Given the description of an element on the screen output the (x, y) to click on. 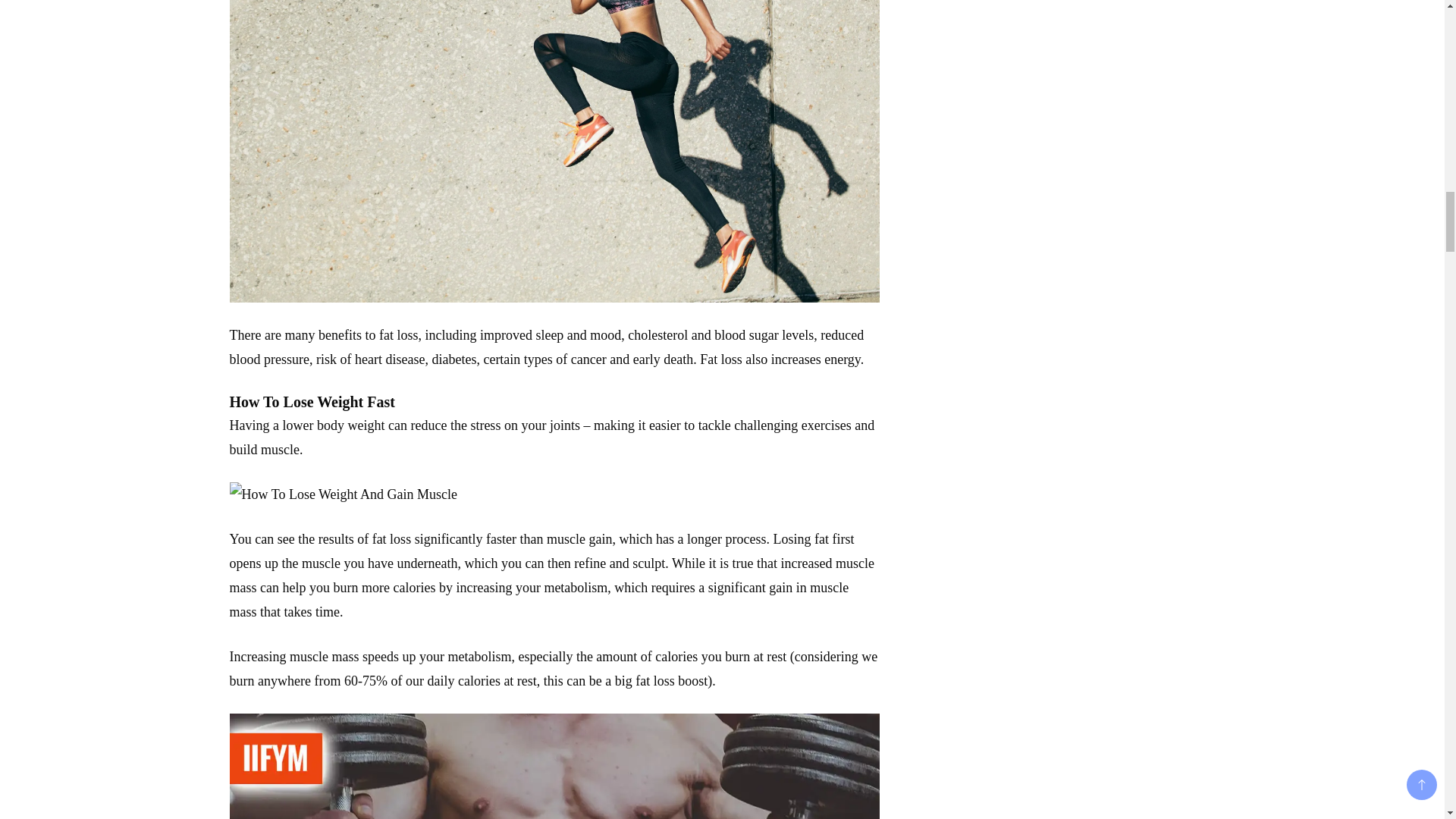
How To Lose Weight And Gain Muscle (553, 766)
How To Lose Weight And Gain Muscle (342, 494)
